Given the description of an element on the screen output the (x, y) to click on. 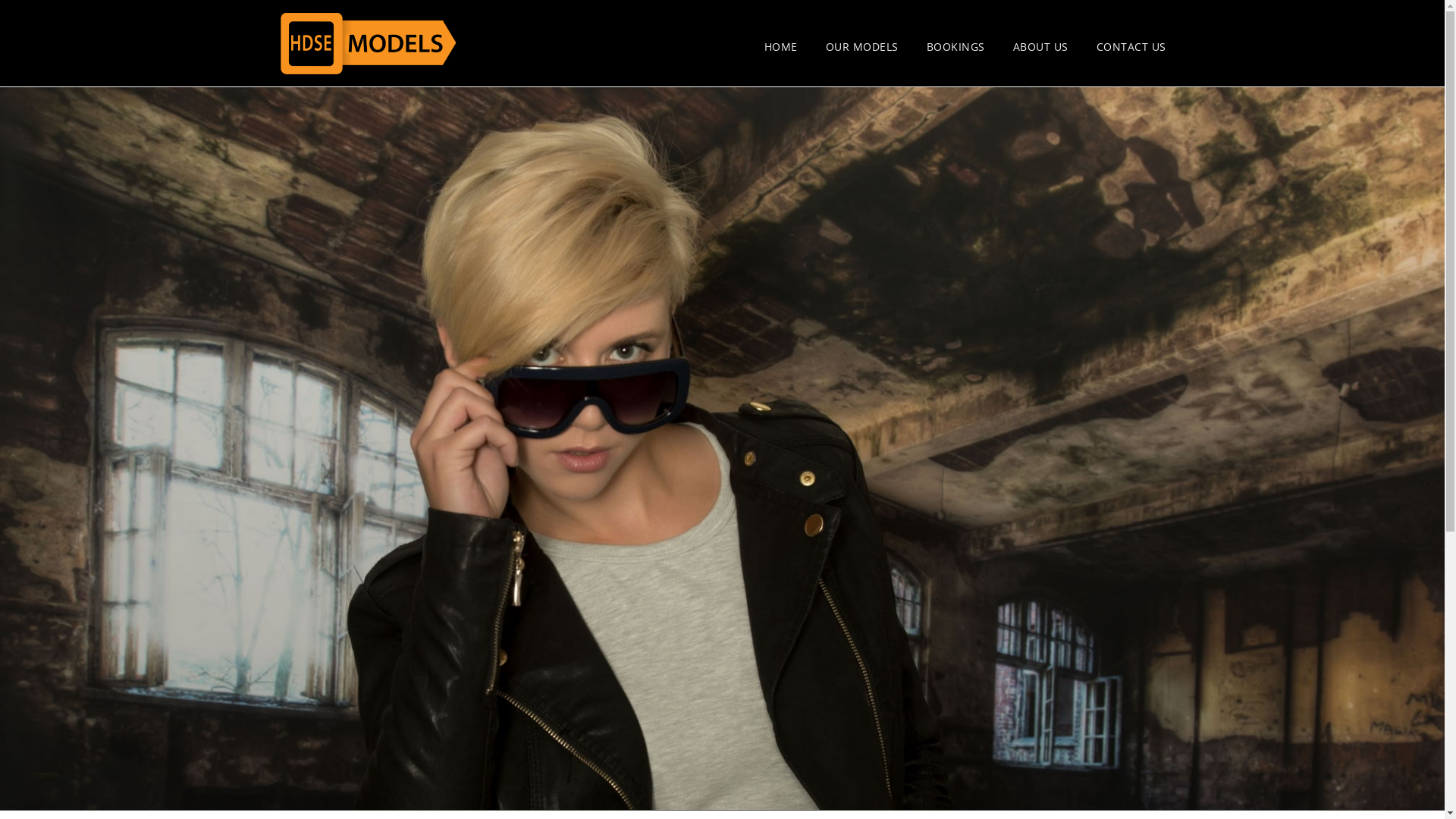
OUR MODELS Element type: text (861, 46)
ABOUT US Element type: text (1040, 46)
CONTACT US Element type: text (1131, 46)
HOME Element type: text (780, 46)
BOOKINGS Element type: text (955, 46)
